Given the description of an element on the screen output the (x, y) to click on. 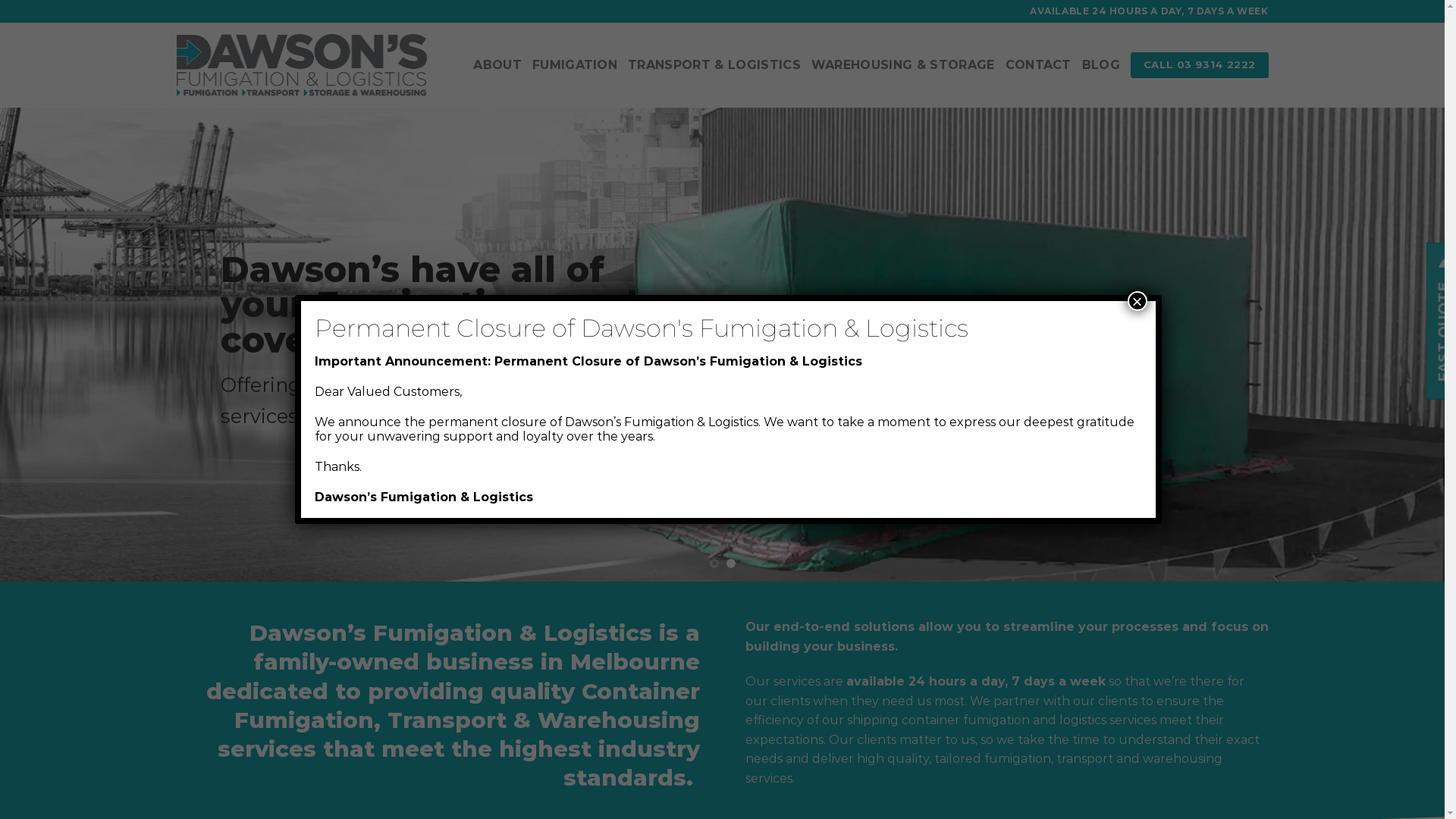
CONTACT Element type: text (1038, 64)
Dawsons - Fumigation & Logistics Element type: hover (300, 64)
TRANSPORT & LOGISTICS Element type: text (713, 64)
CALL 03 9314 2222 Element type: text (1198, 65)
WAREHOUSING & STORAGE Element type: text (902, 64)
FUMIGATION Element type: text (574, 64)
BLOG Element type: text (1101, 64)
ABOUT Element type: text (497, 64)
